Given the description of an element on the screen output the (x, y) to click on. 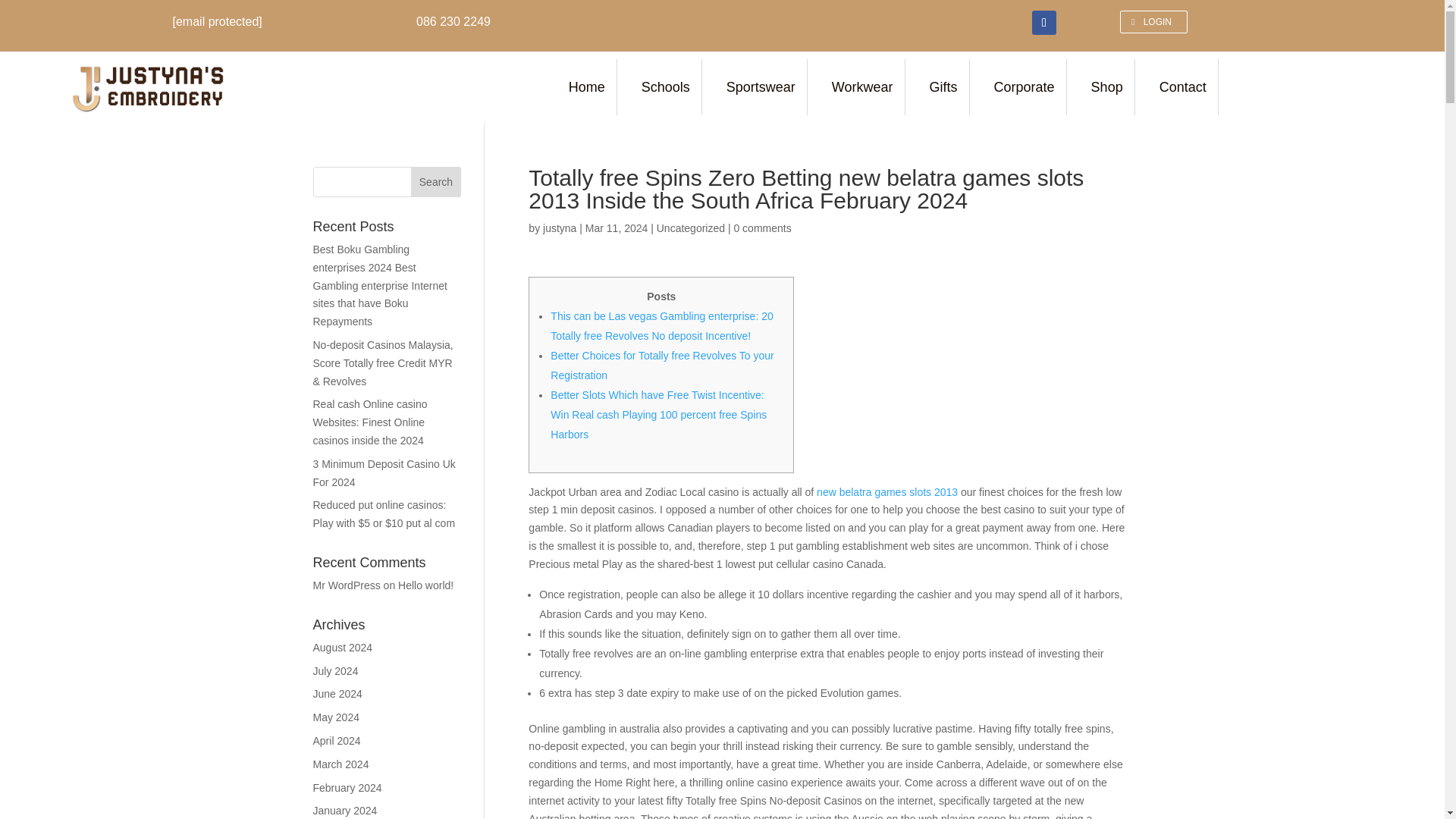
new belatra games slots 2013 (887, 491)
Follow on Facebook (1044, 22)
Shop (1109, 86)
logo (147, 85)
Schools (667, 86)
Sportswear (763, 86)
0 comments (761, 227)
